Given the description of an element on the screen output the (x, y) to click on. 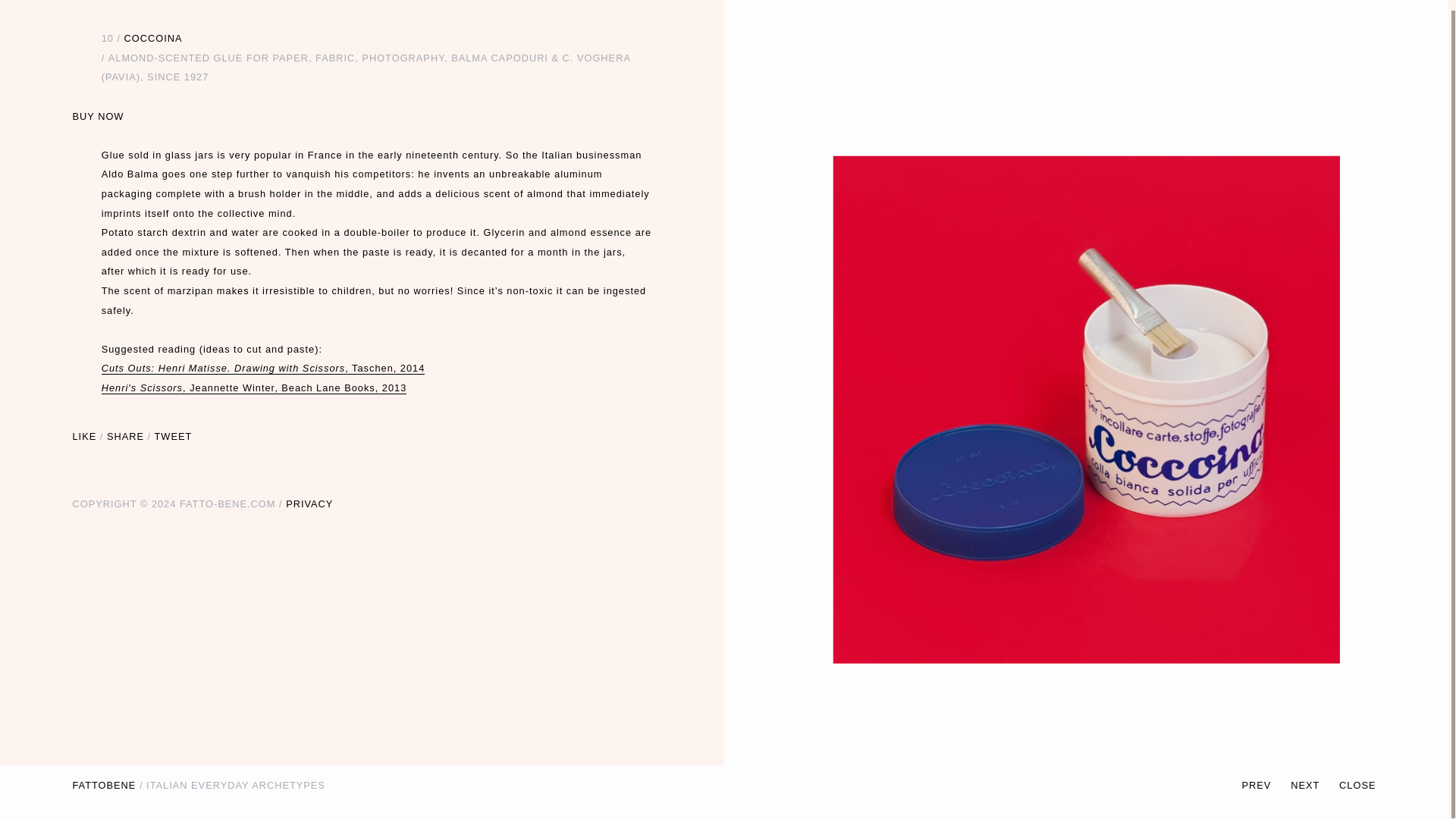
FATTOBENE (104, 774)
PREV (1266, 774)
NEXT (1314, 774)
CLOSE (1357, 774)
Privacy Policy (309, 503)
